Given the description of an element on the screen output the (x, y) to click on. 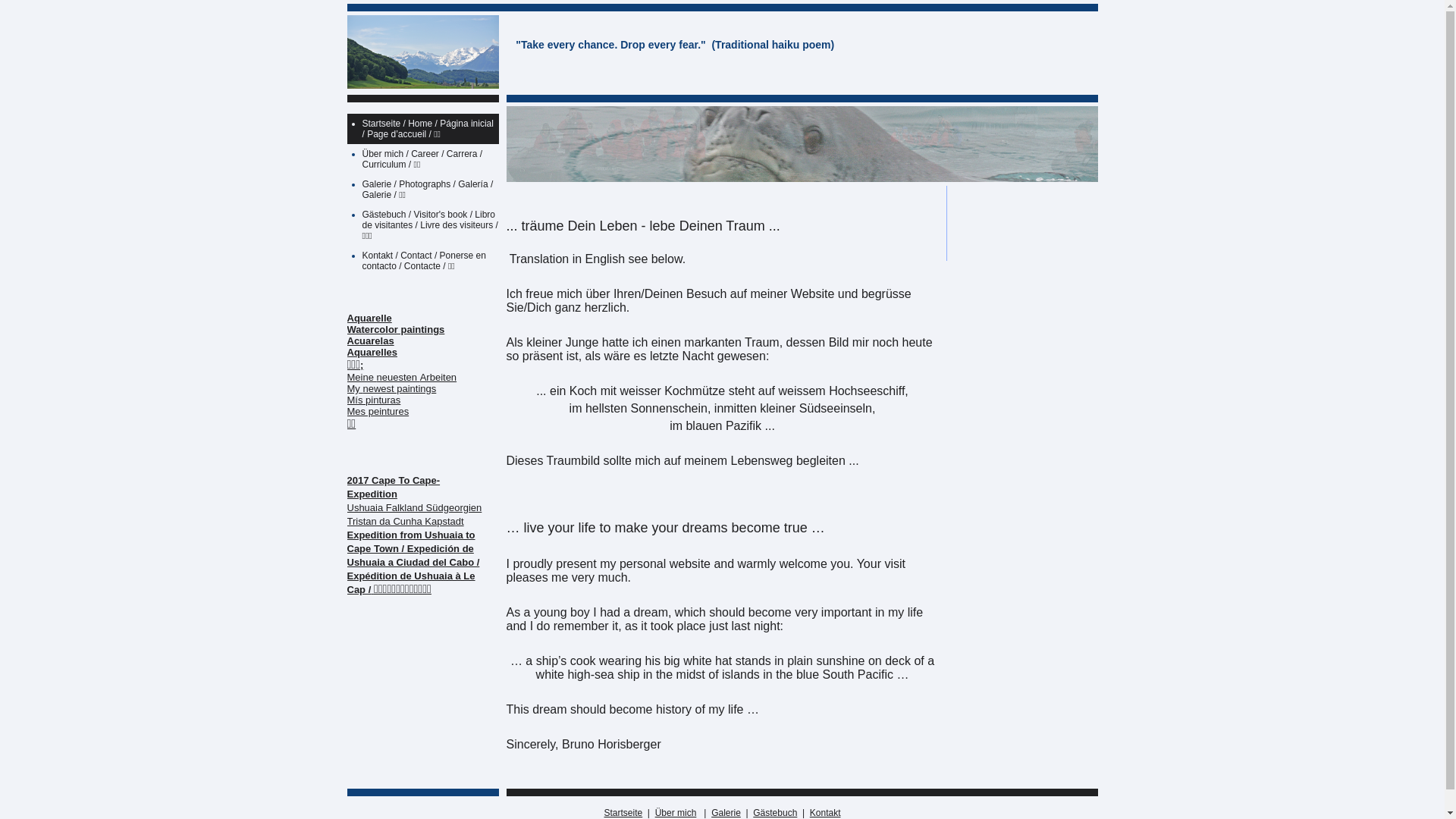
; Element type: text (361, 364)
newest paintings Element type: text (399, 388)
Aquarelle Element type: text (369, 317)
Acuarelas Element type: text (370, 340)
Kontakt Element type: text (824, 812)
Aquarelles Element type: text (372, 351)
Watercolor paintings Element type: text (396, 329)
Arbeiten Element type: text (438, 376)
Startseite Element type: text (622, 812)
My Element type: text (353, 388)
Galerie Element type: text (725, 812)
neuesten Element type: text (396, 376)
Mes peintures Element type: text (378, 411)
2017 Cape To Cape-Expedition Element type: text (393, 486)
Meine Element type: text (360, 376)
